Given the description of an element on the screen output the (x, y) to click on. 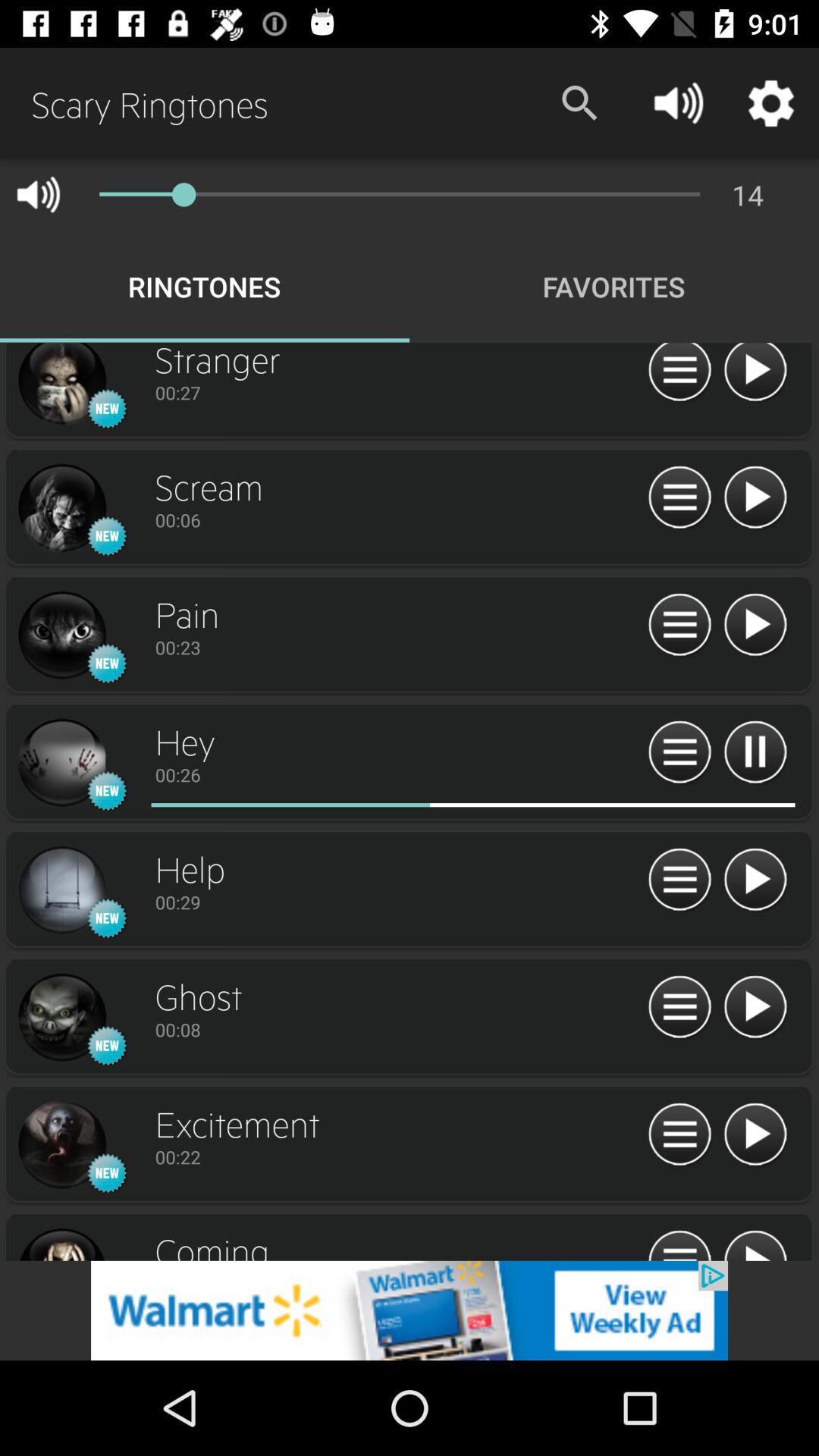
hey (61, 763)
